Given the description of an element on the screen output the (x, y) to click on. 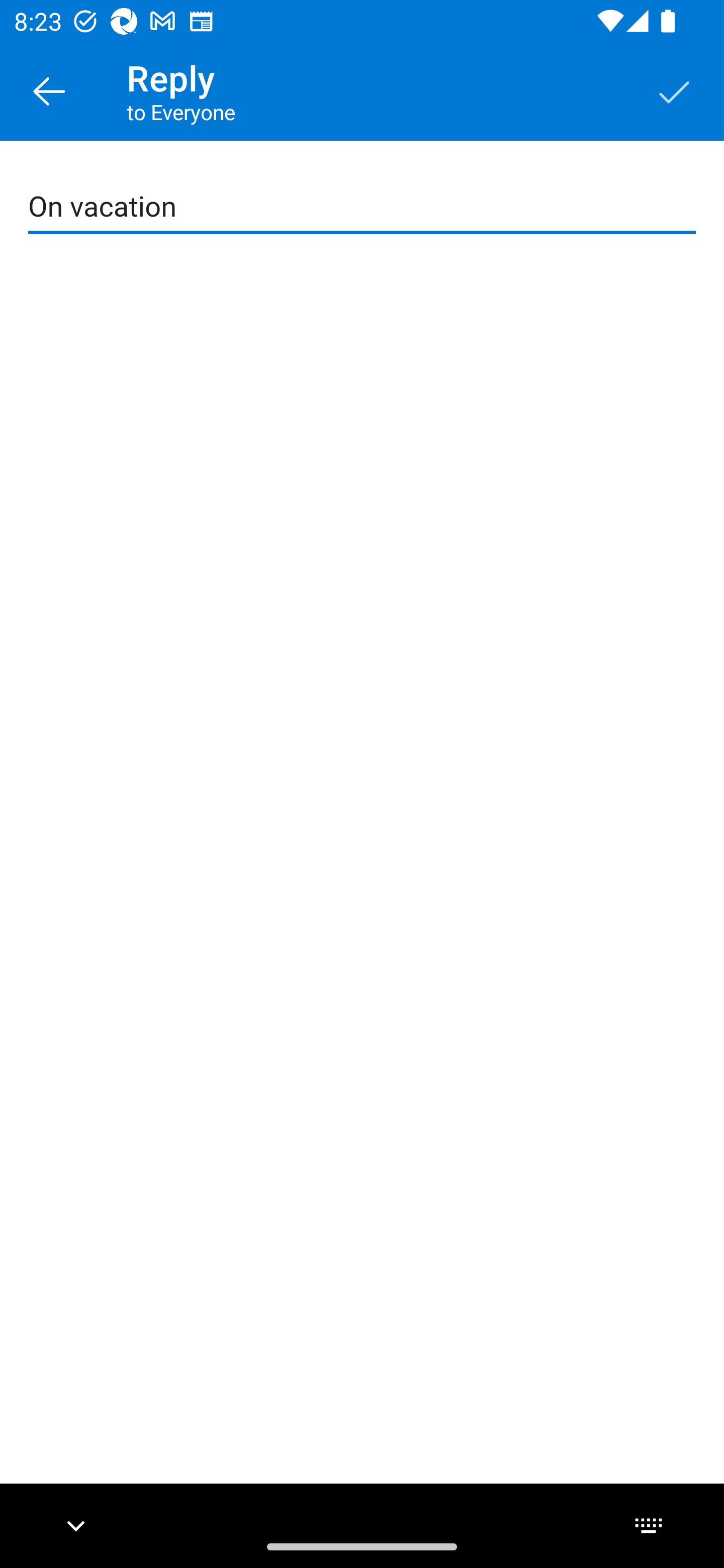
Back (49, 90)
Save (674, 90)
On vacation (363, 206)
